Given the description of an element on the screen output the (x, y) to click on. 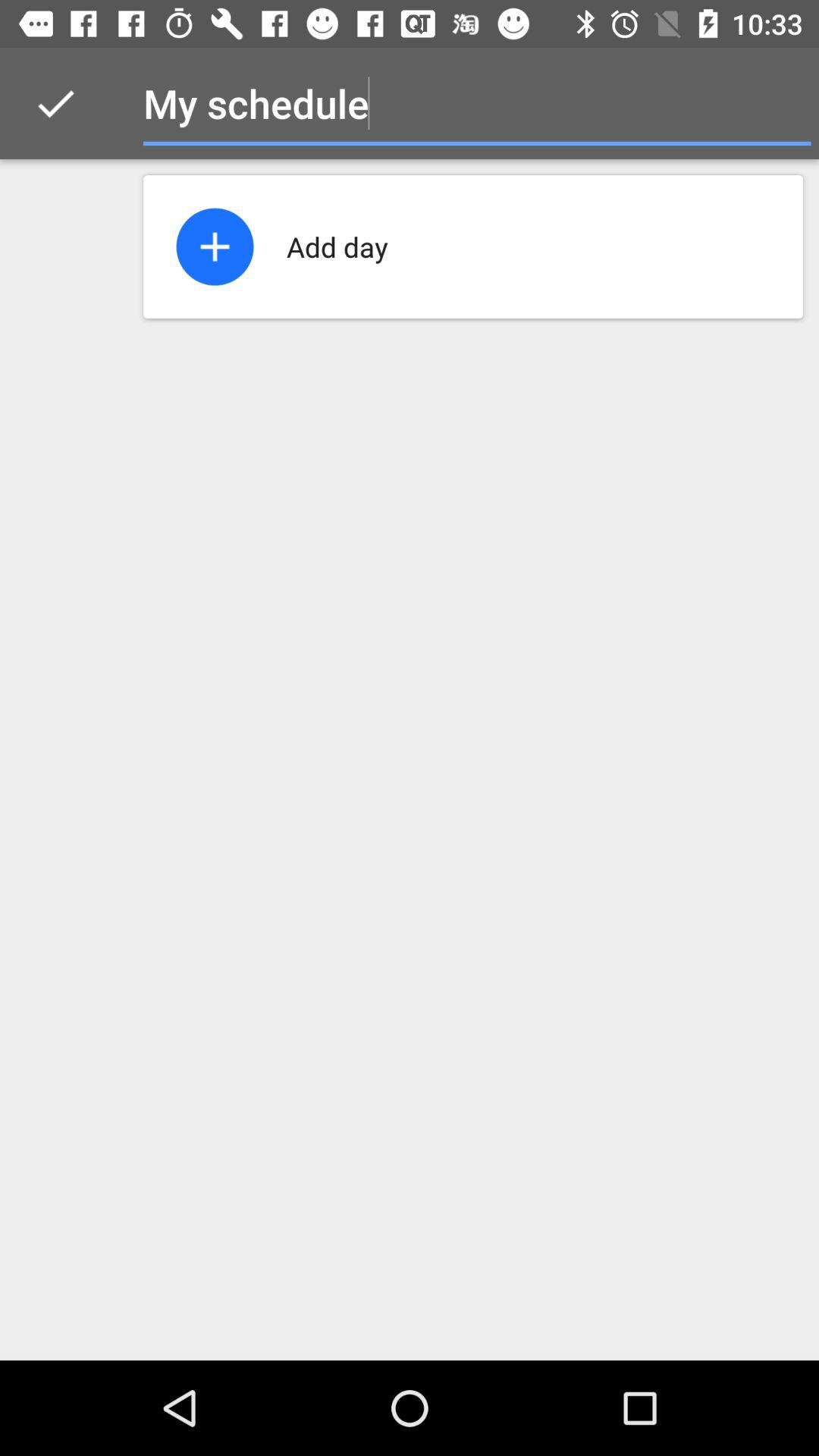
choose icon to the right of the my schedule icon (779, 103)
